Given the description of an element on the screen output the (x, y) to click on. 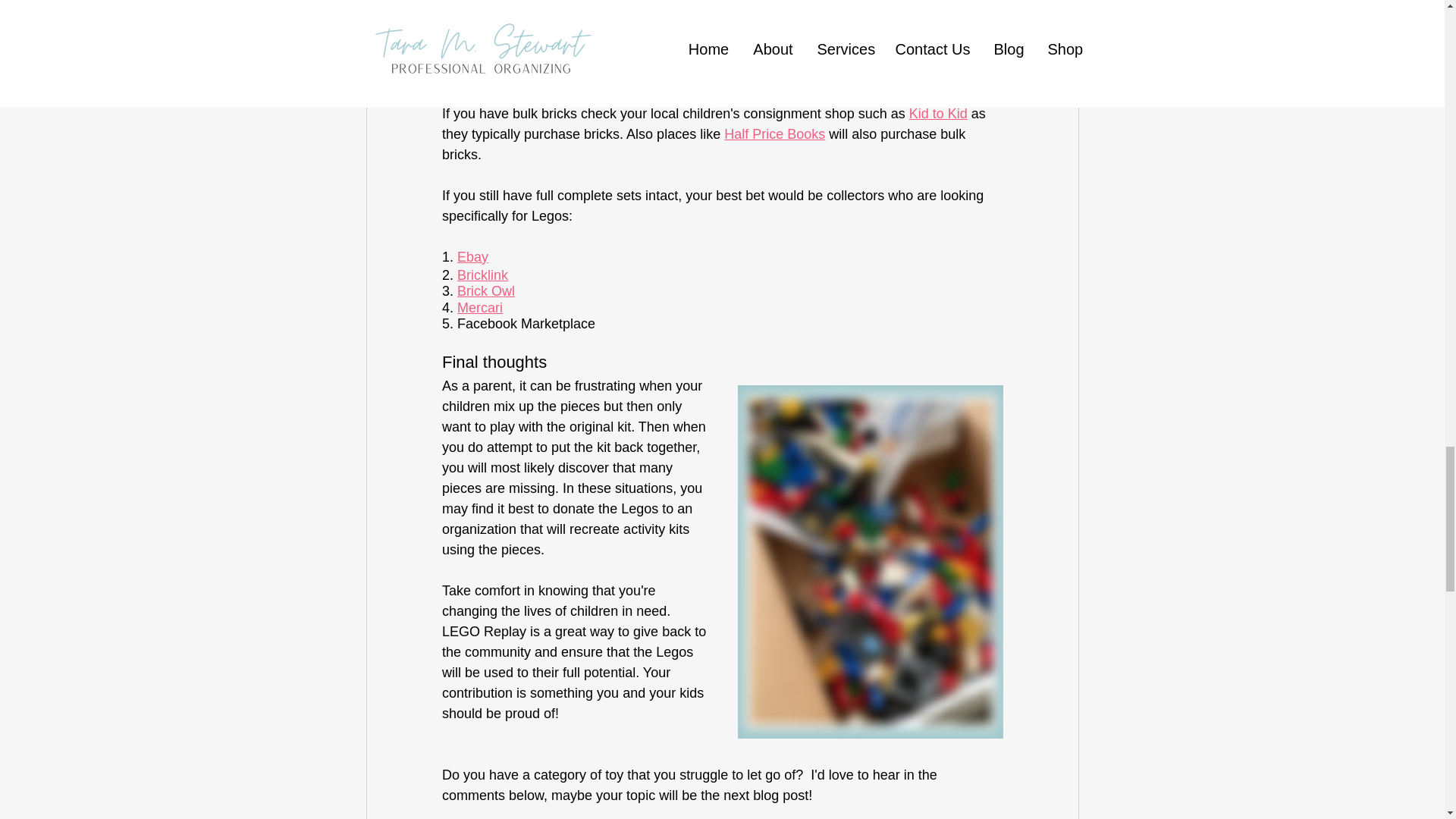
Mercari (479, 307)
Bricklink (482, 274)
Kid to Kid (937, 113)
Half Price Books (774, 133)
Brick Owl (486, 290)
Ebay (472, 256)
